Given the description of an element on the screen output the (x, y) to click on. 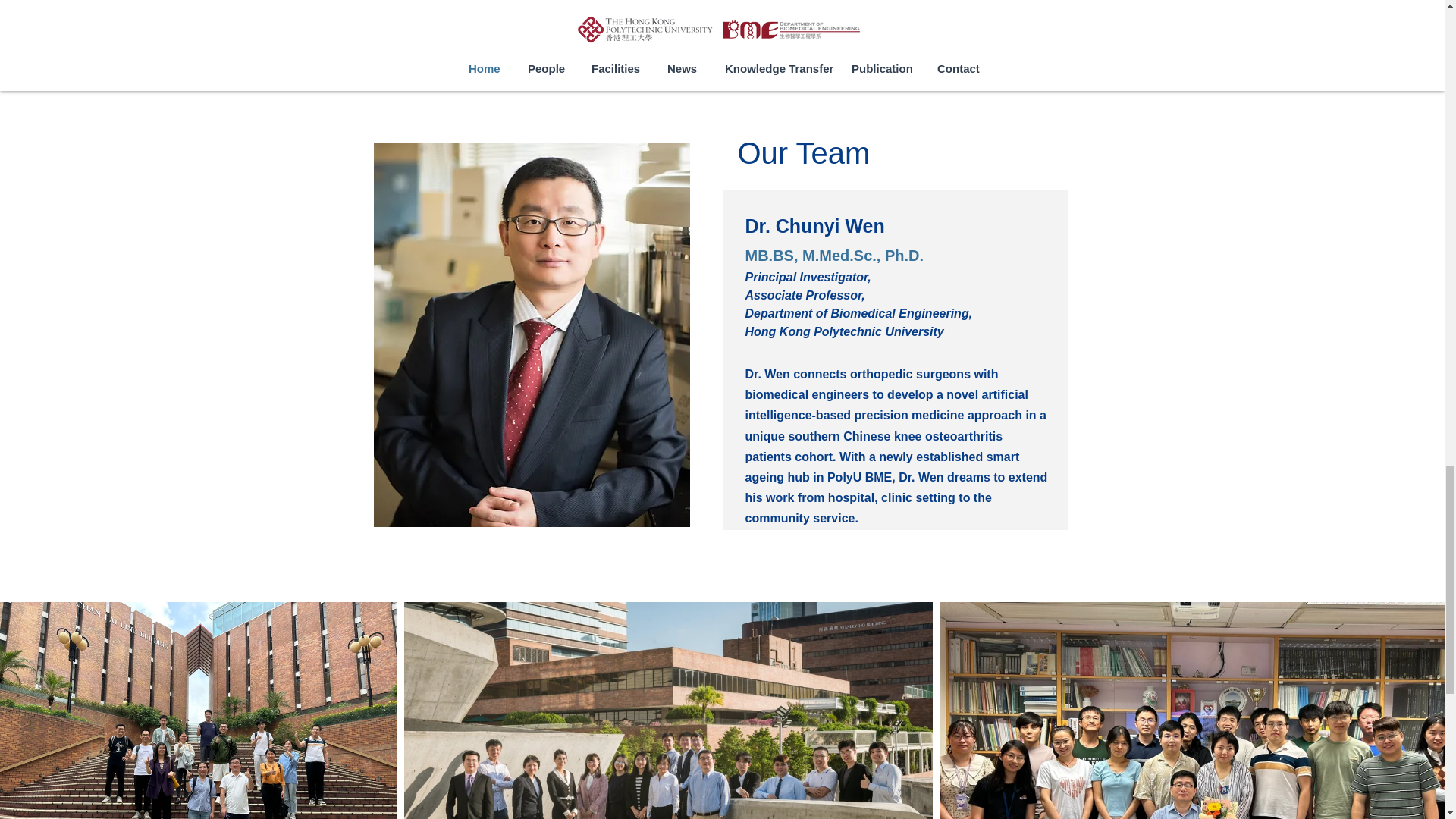
Our Team (802, 152)
